Given the description of an element on the screen output the (x, y) to click on. 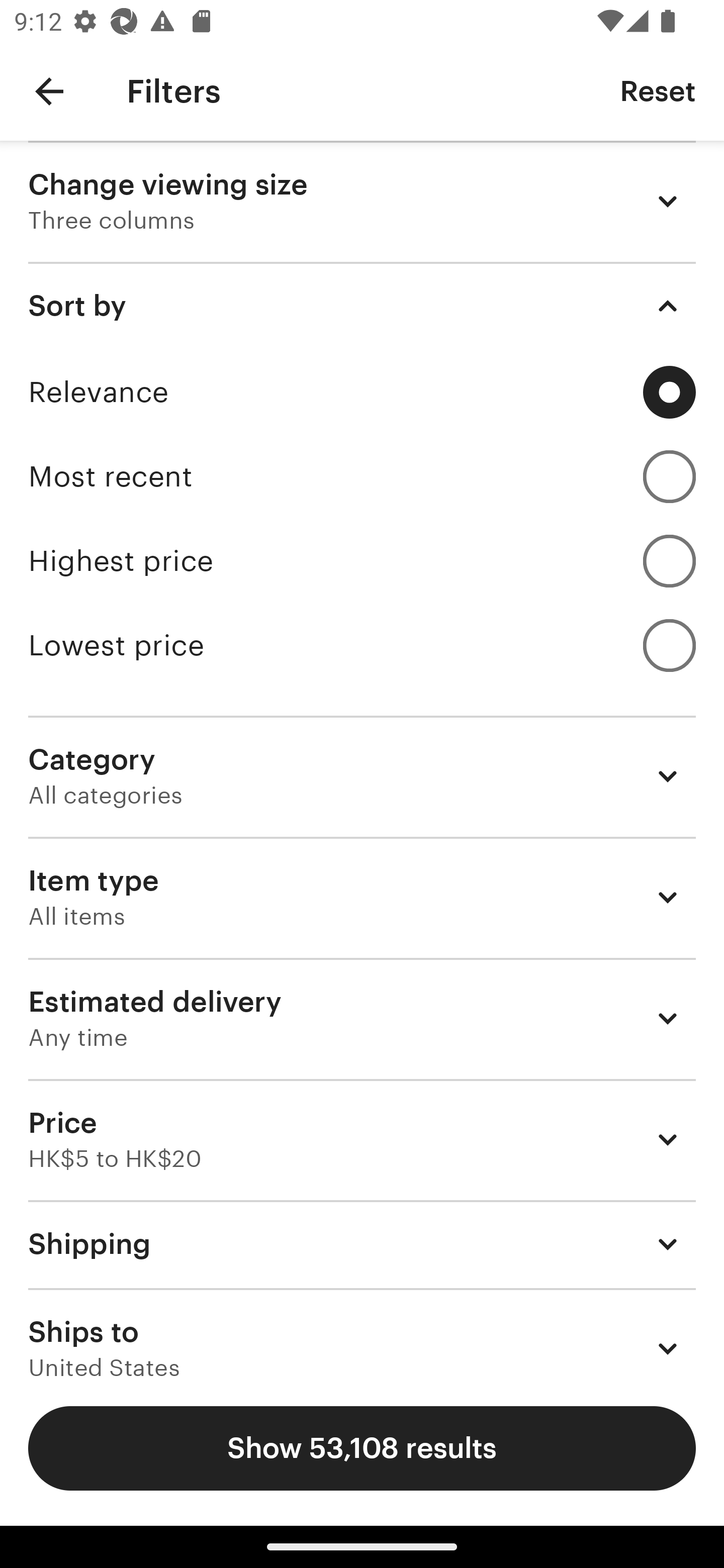
Navigate up (49, 91)
Reset (657, 90)
Change viewing size Three columns (362, 201)
Sort by (362, 305)
Relevance (362, 391)
Most recent (362, 476)
Highest price (362, 561)
Lowest price (362, 644)
Category All categories (362, 776)
Item type All items (362, 897)
Estimated delivery Any time (362, 1018)
Price HK$5 to HK$20 (362, 1138)
Shipping (362, 1243)
Ships to United States (362, 1332)
Show 53,108 results Show results (361, 1448)
